Given the description of an element on the screen output the (x, y) to click on. 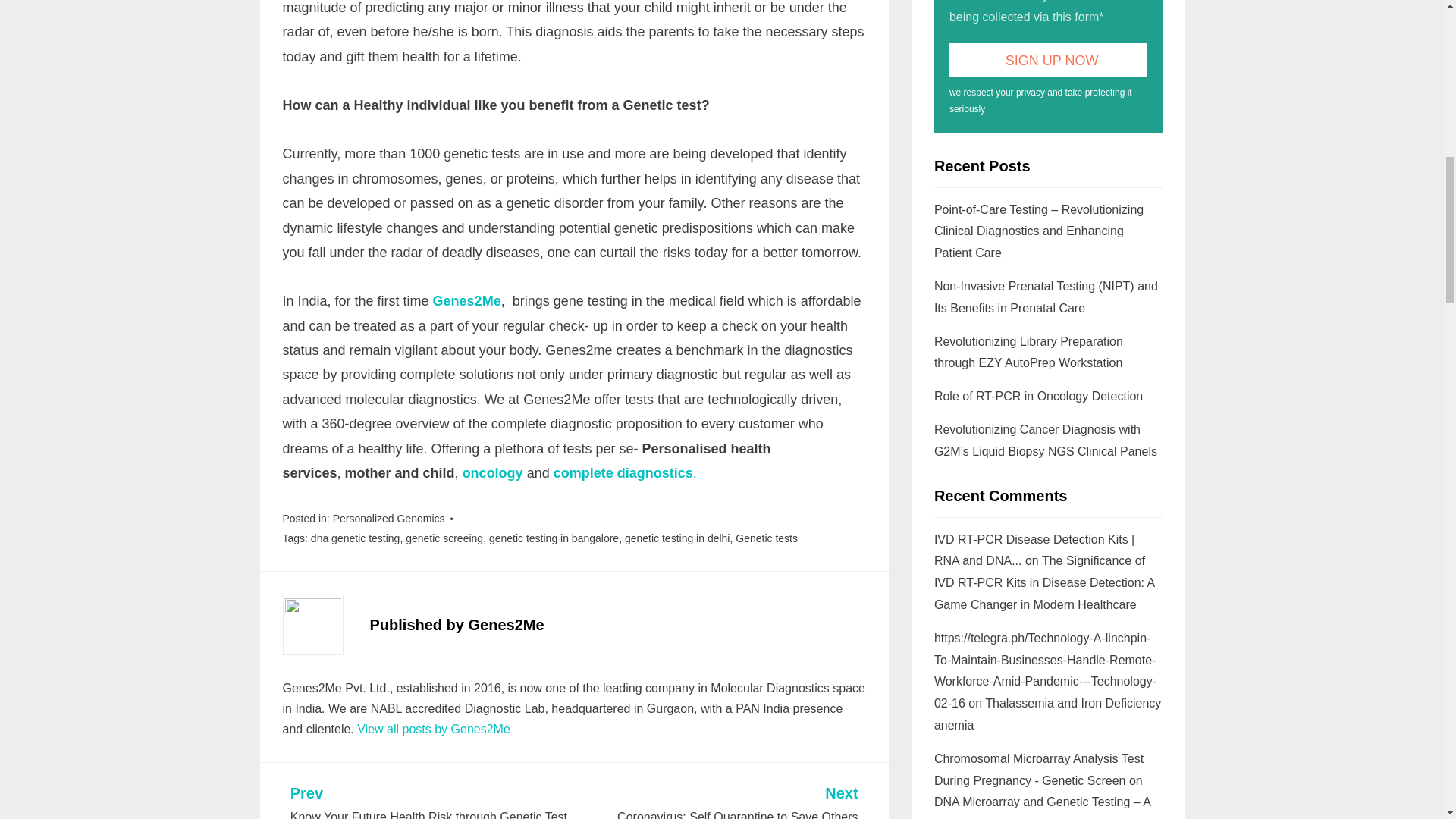
genetic testing in delhi (677, 538)
View all posts by Genes2Me (433, 728)
genetic testing in bangalore (553, 538)
Sign Up Now (1048, 59)
Role of RT-PCR in Oncology Detection (1038, 395)
Personalized Genomics (389, 518)
Thalassemia and Iron Deficiency anemia (717, 802)
